Given the description of an element on the screen output the (x, y) to click on. 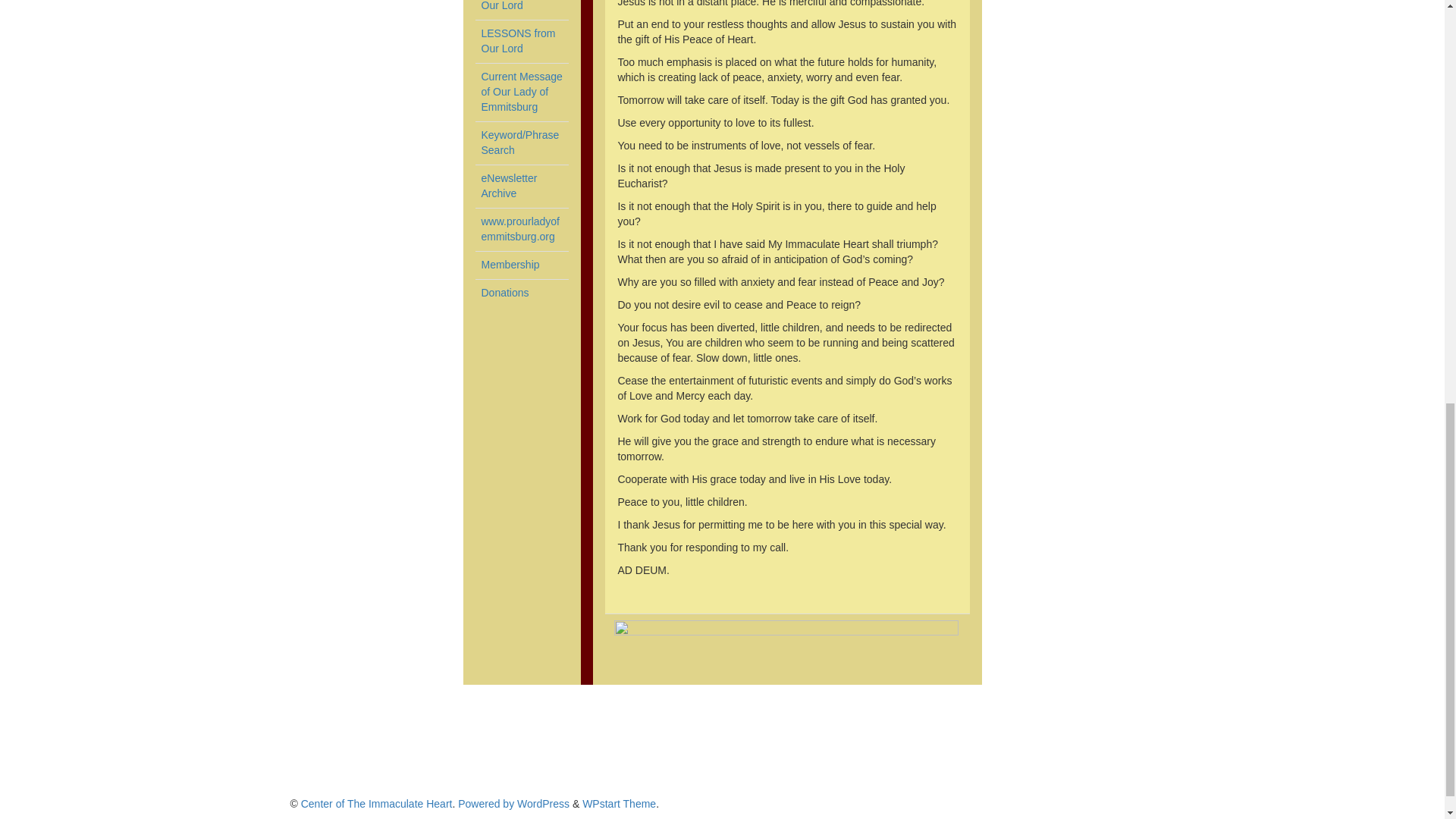
Donations (504, 292)
Powered by WordPress (519, 228)
LESSONS from Our Lord (513, 803)
WPstart Theme (517, 40)
WPstart Theme (619, 803)
Center of The Immaculate Heart (619, 803)
eNewsletter Archive (376, 803)
Hidden Life of Our Lord (508, 185)
Powered by WordPress (513, 5)
